Given the description of an element on the screen output the (x, y) to click on. 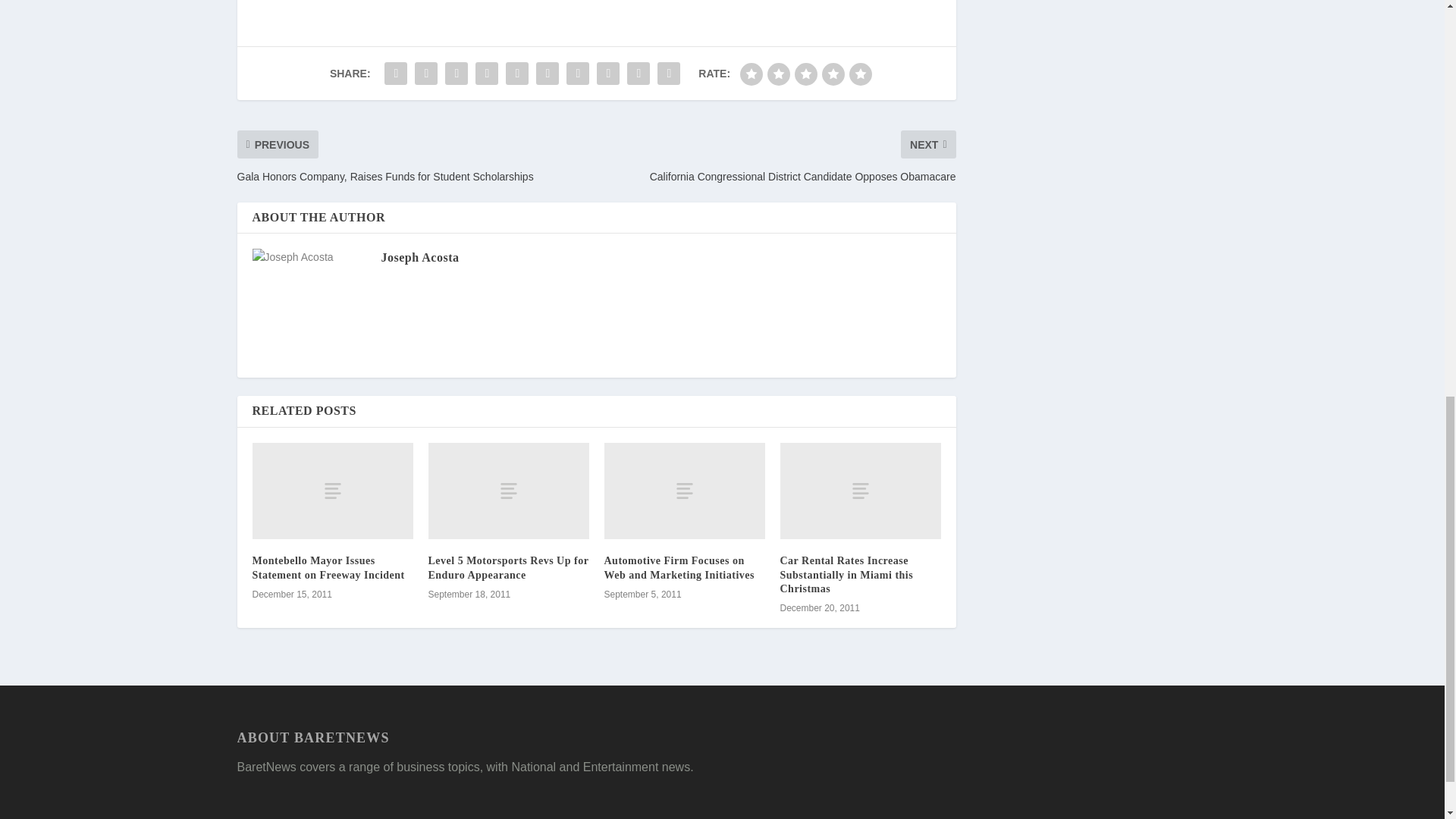
bad (750, 74)
Share "Scrubblade Windshield Wipers Cited in Expo" via Email (638, 73)
poor (778, 74)
